Given the description of an element on the screen output the (x, y) to click on. 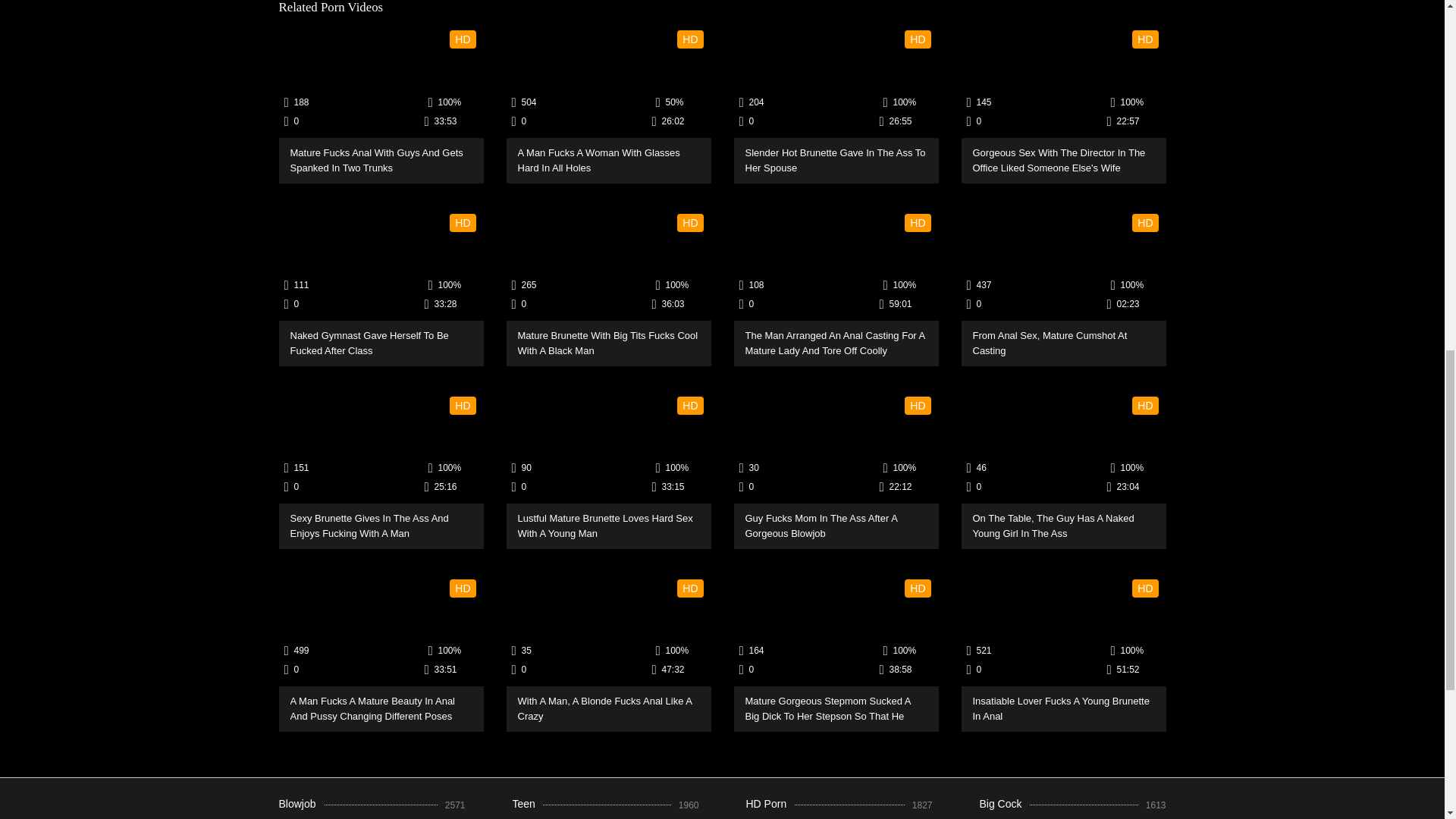
A Man Fucks A Woman With Glasses Hard In All Holes (608, 81)
Slender Hot Brunette Gave In The Ass To Her Spouse (836, 81)
Mature Brunette With Big Tits Fucks Cool With A Black Man (608, 265)
Naked Gymnast Gave Herself To Be Fucked After Class (381, 265)
Mature Fucks Anal With Guys And Gets Spanked In Two Trunks (381, 81)
